Given the description of an element on the screen output the (x, y) to click on. 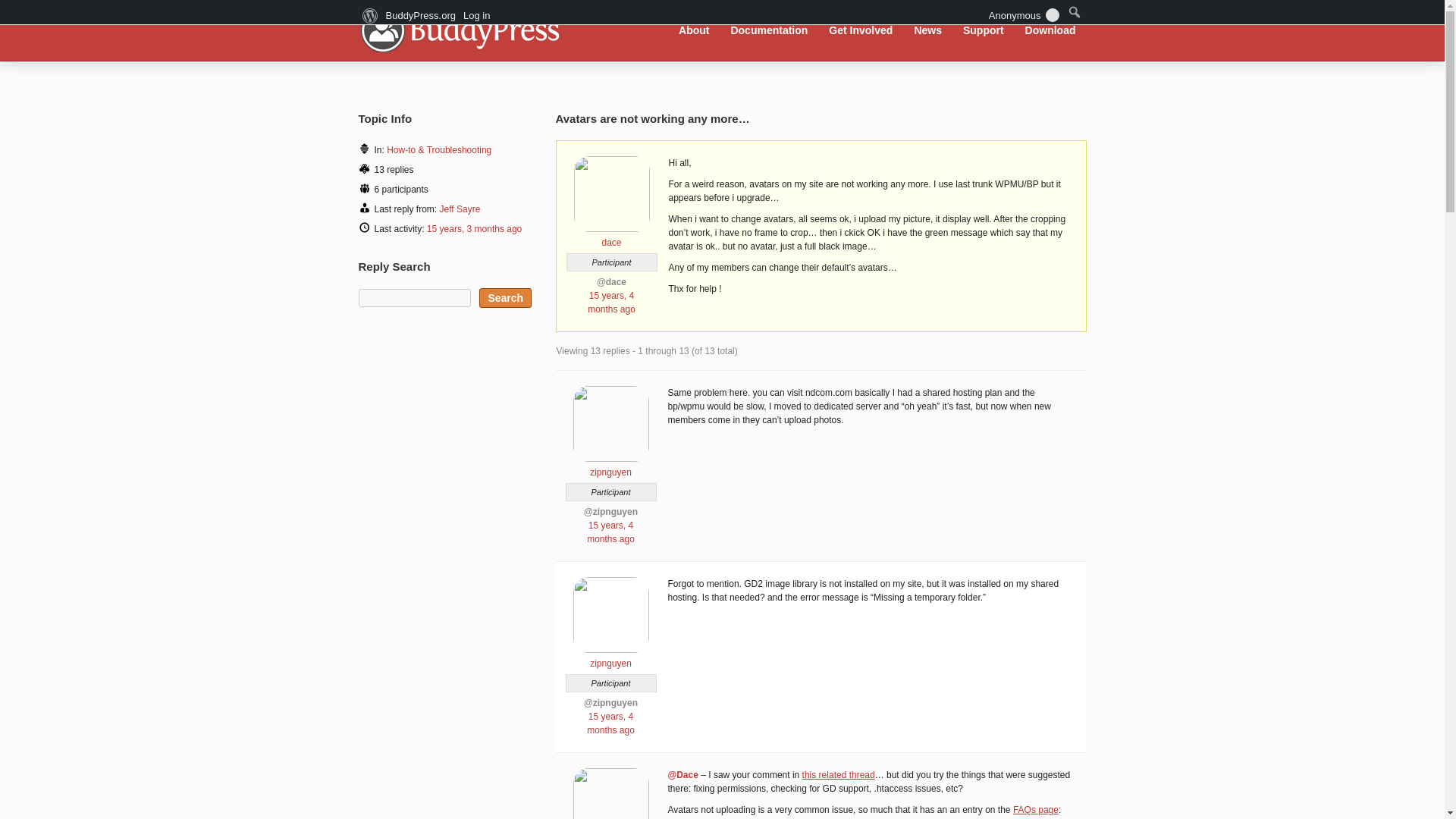
this related thread (838, 774)
15 years, 4 months ago (610, 532)
BuddyPress.org (458, 29)
About (693, 29)
Documentation (768, 29)
Search (505, 297)
News (927, 29)
FAQs page (1035, 809)
dace (611, 236)
zipnguyen (609, 657)
Get Involved (861, 29)
Download (1050, 29)
zipnguyen (609, 466)
15 years, 4 months ago (611, 302)
Support (983, 29)
